Given the description of an element on the screen output the (x, y) to click on. 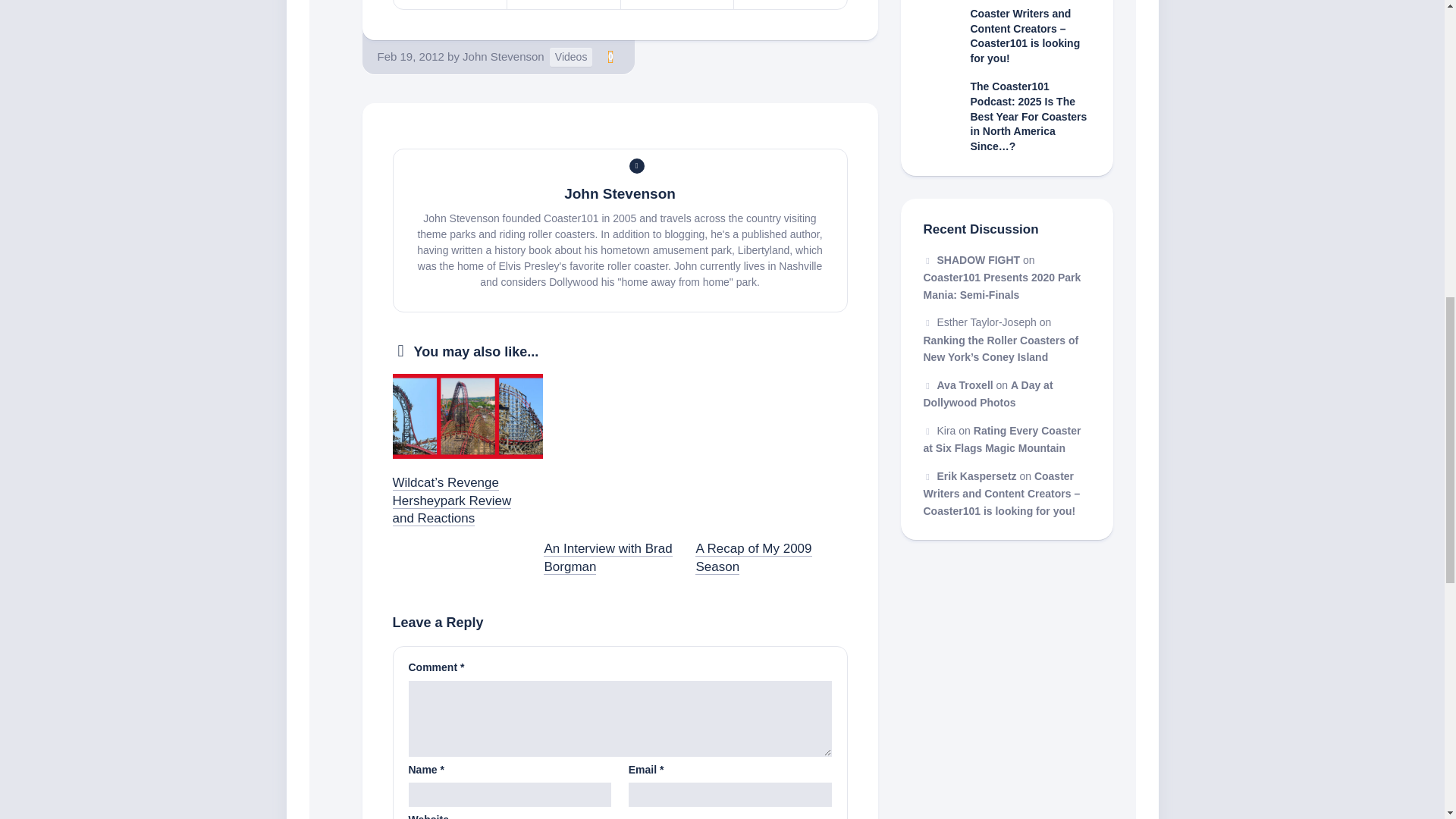
Posts by John Stevenson (503, 56)
Share on Pinterest (676, 4)
Videos (571, 56)
0 (610, 56)
Share on X (449, 4)
John Stevenson (503, 56)
Share on Facebook (563, 4)
Share on LinkedIn (790, 4)
